Given the description of an element on the screen output the (x, y) to click on. 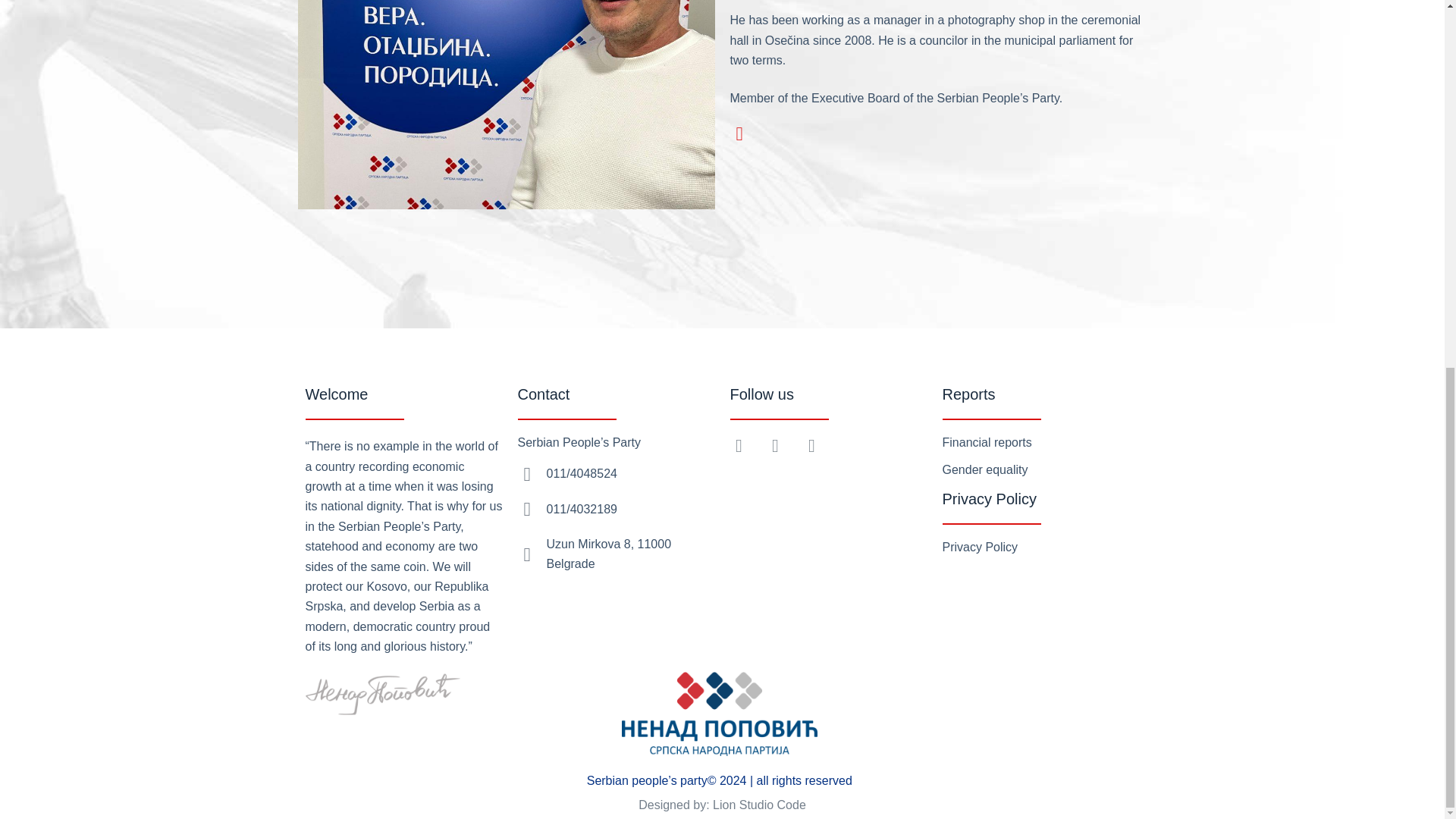
Financial reports (986, 441)
Uzun Mirkova 8, 11000 Belgrade (608, 553)
Gender equality (984, 469)
Privacy Policy (979, 546)
Designed by: Lion Studio Code (722, 804)
